Given the description of an element on the screen output the (x, y) to click on. 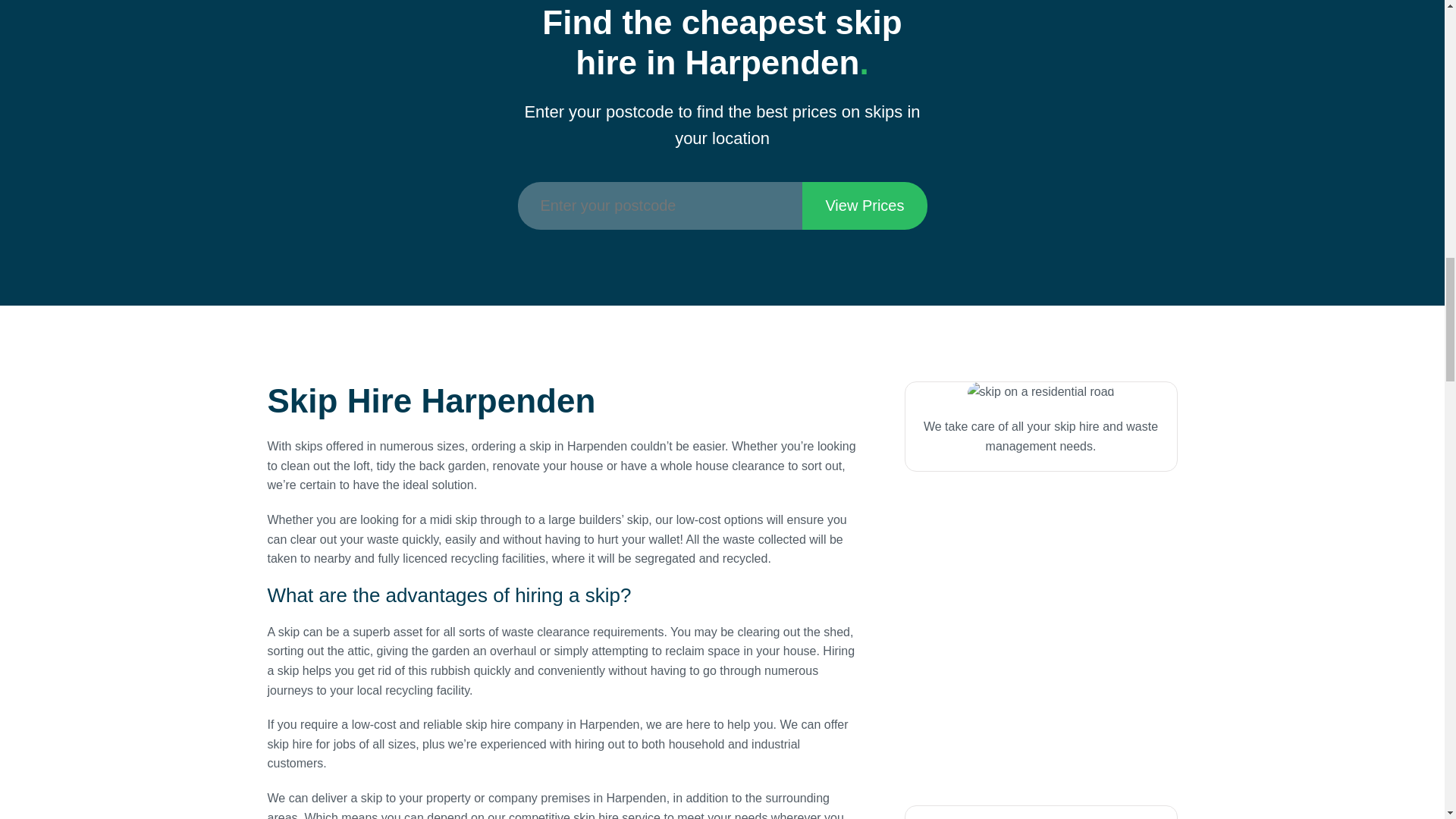
View Prices (864, 205)
View Prices (864, 205)
View Prices (864, 205)
